Given the description of an element on the screen output the (x, y) to click on. 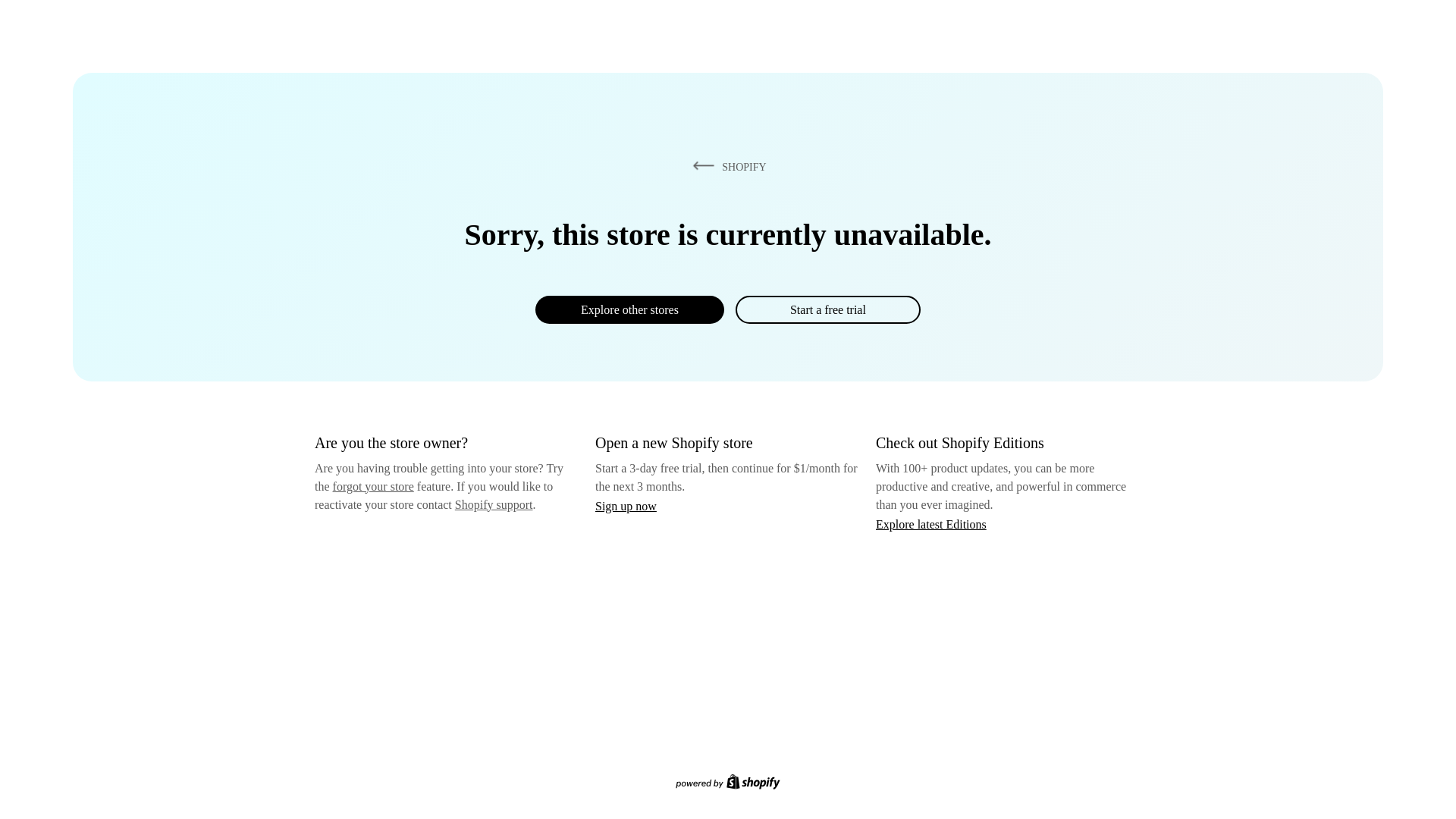
Explore other stores (629, 309)
forgot your store (373, 486)
Start a free trial (827, 309)
Sign up now (625, 505)
SHOPIFY (726, 166)
Shopify support (493, 504)
Explore latest Editions (931, 523)
